Given the description of an element on the screen output the (x, y) to click on. 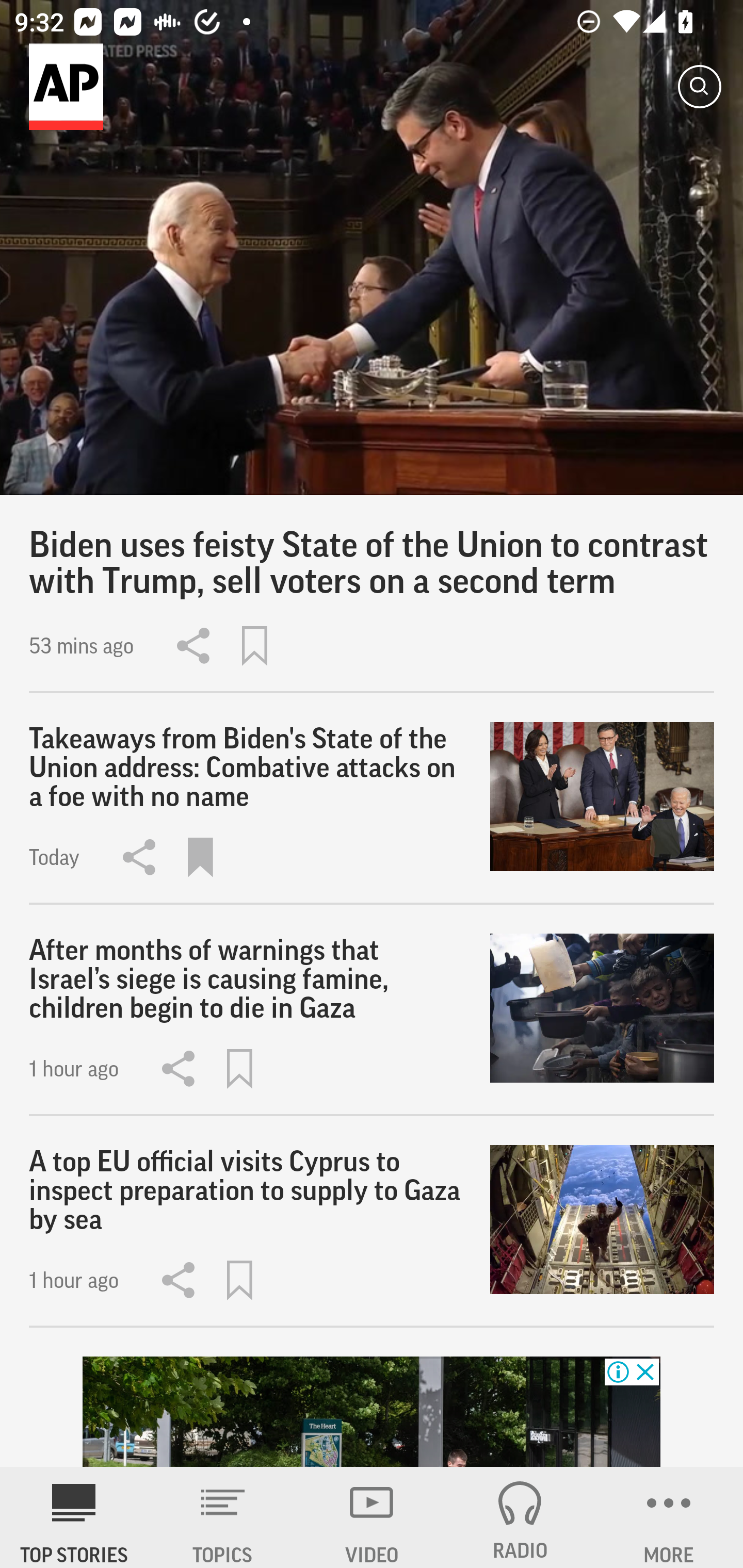
AP News TOP STORIES (74, 1517)
TOPICS (222, 1517)
VIDEO (371, 1517)
RADIO (519, 1517)
MORE (668, 1517)
